Given the description of an element on the screen output the (x, y) to click on. 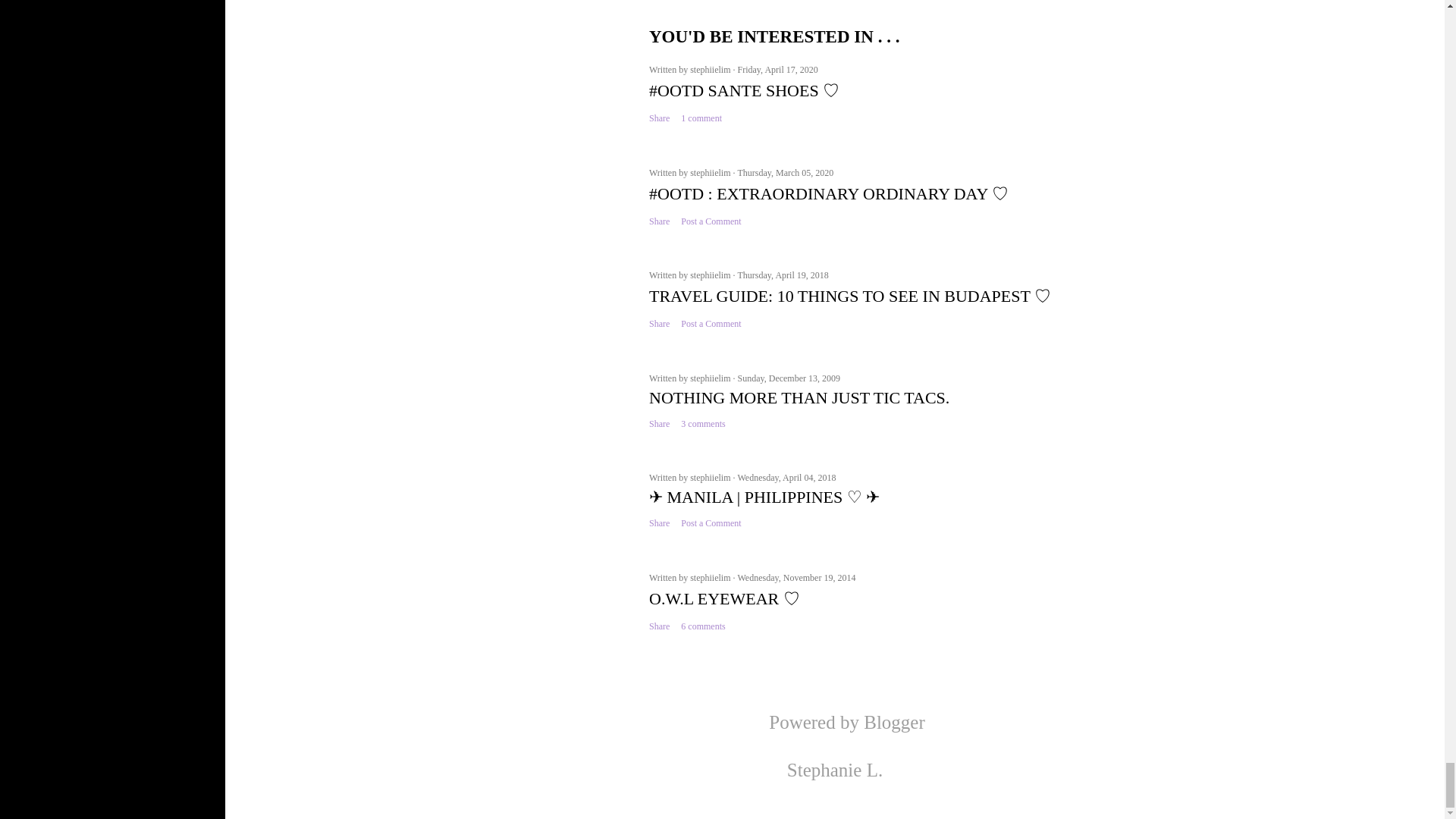
author profile (711, 69)
